Given the description of an element on the screen output the (x, y) to click on. 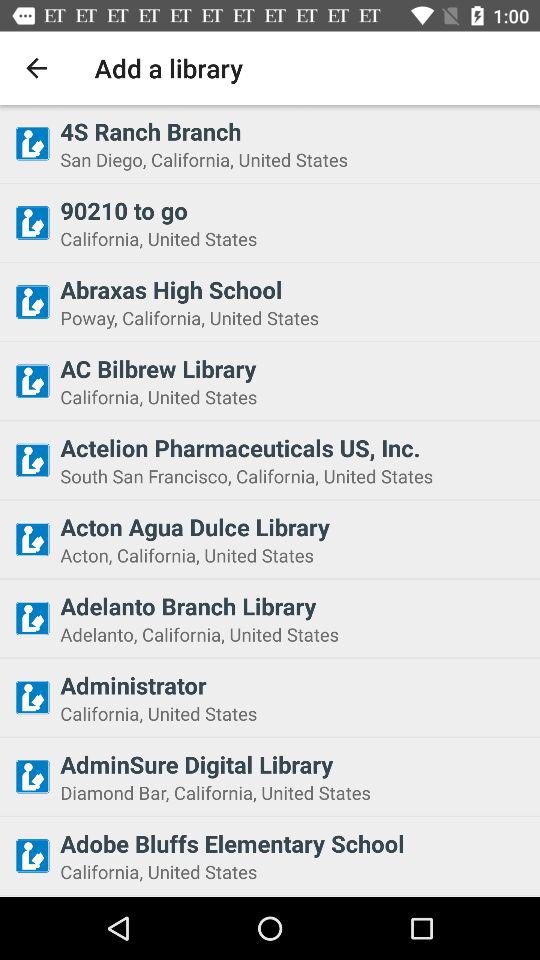
turn on the icon above the california, united states icon (294, 368)
